Given the description of an element on the screen output the (x, y) to click on. 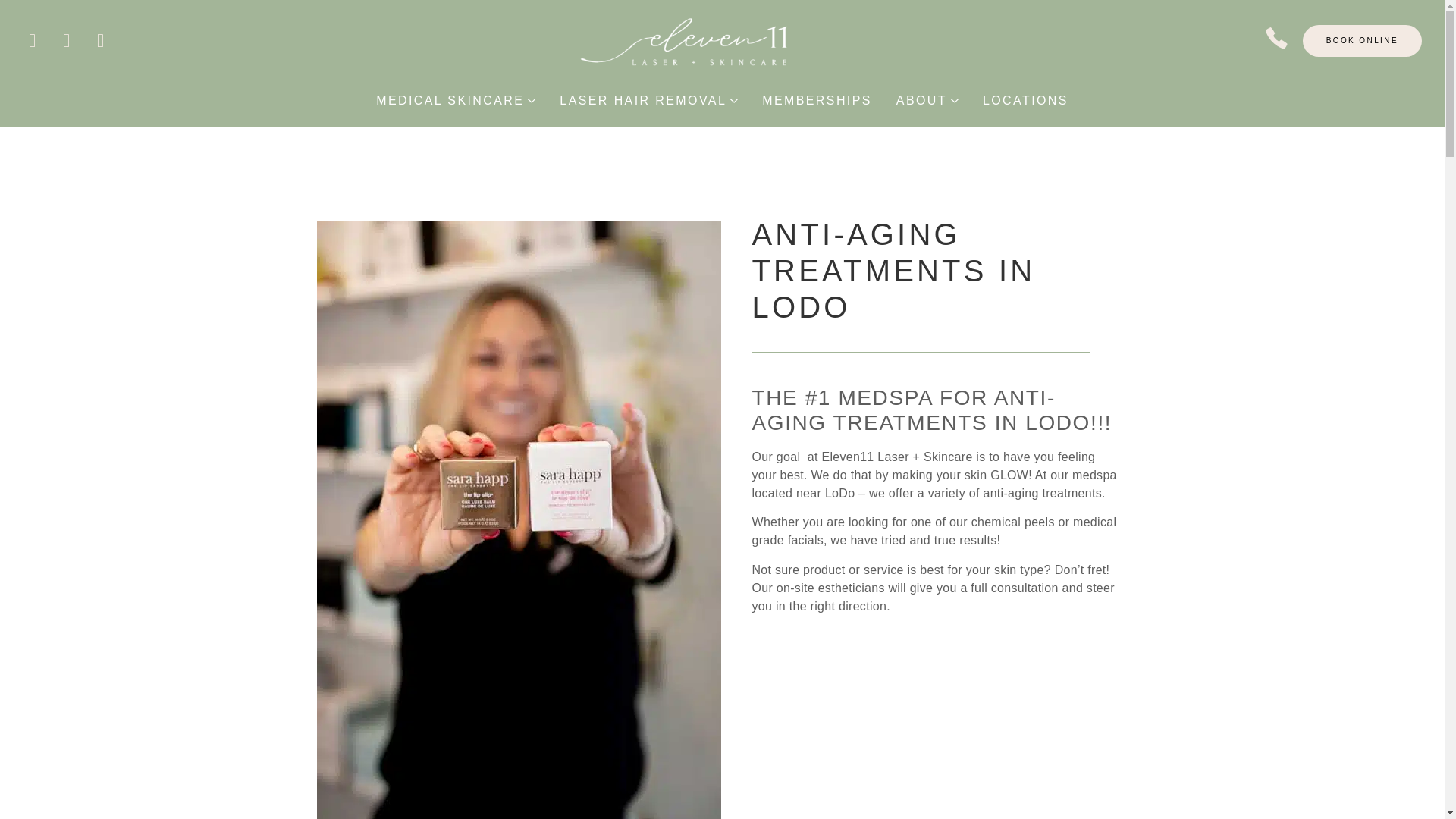
Anti-Aging Treatments In LoDo 1 (518, 522)
LASER HAIR REMOVAL (642, 100)
ABOUT (921, 100)
BOOK ONLINE (1362, 40)
LOCATIONS (1025, 100)
MEDICAL SKINCARE (449, 100)
MEMBERSHIPS (816, 100)
